Given the description of an element on the screen output the (x, y) to click on. 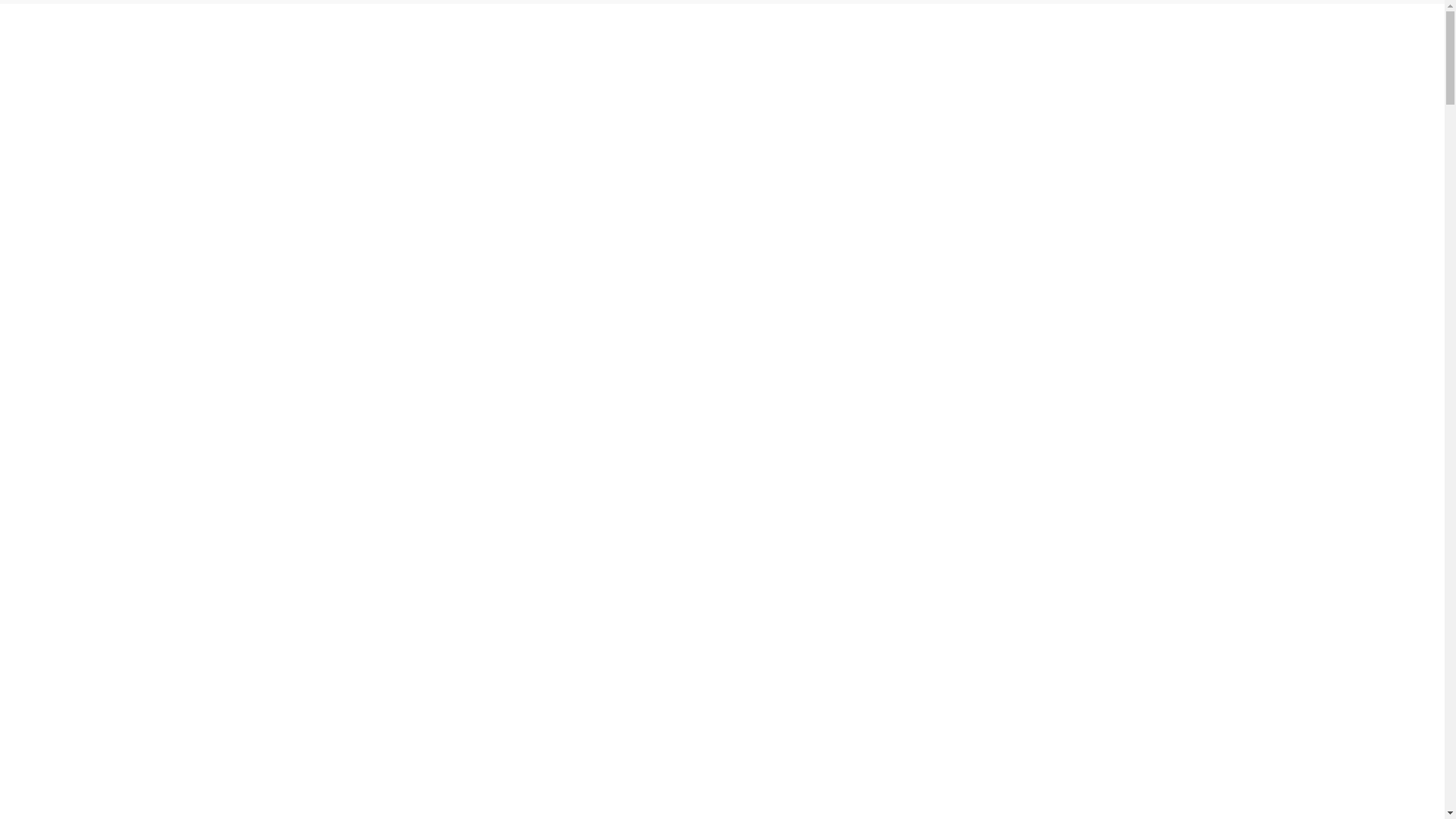
Wallscape Reklame Element type: text (782, 612)
Naslovna Element type: text (769, 25)
Projekti Element type: text (282, 658)
O Nama Element type: text (284, 590)
Informacije Element type: text (1045, 25)
Video Produkcija Element type: text (540, 635)
Naslovna Element type: text (286, 567)
Megaboard Reklame Element type: text (786, 635)
Projekti Element type: text (973, 25)
Web Dizajn Element type: text (292, 635)
O Nama Element type: text (837, 25)
Ponuda Element type: text (905, 25)
Billboard Reklame Element type: text (780, 567)
Web Dizajn Element type: text (527, 590)
Reklame Element type: text (285, 612)
Kontakt Element type: text (282, 681)
Krovne Reklame Element type: text (774, 590)
Kontakt Element type: text (1139, 25)
Backlight Fasadne Reklame Element type: text (803, 658)
Tibra Pacific d.o.o." Element type: text (652, 790)
